Given the description of an element on the screen output the (x, y) to click on. 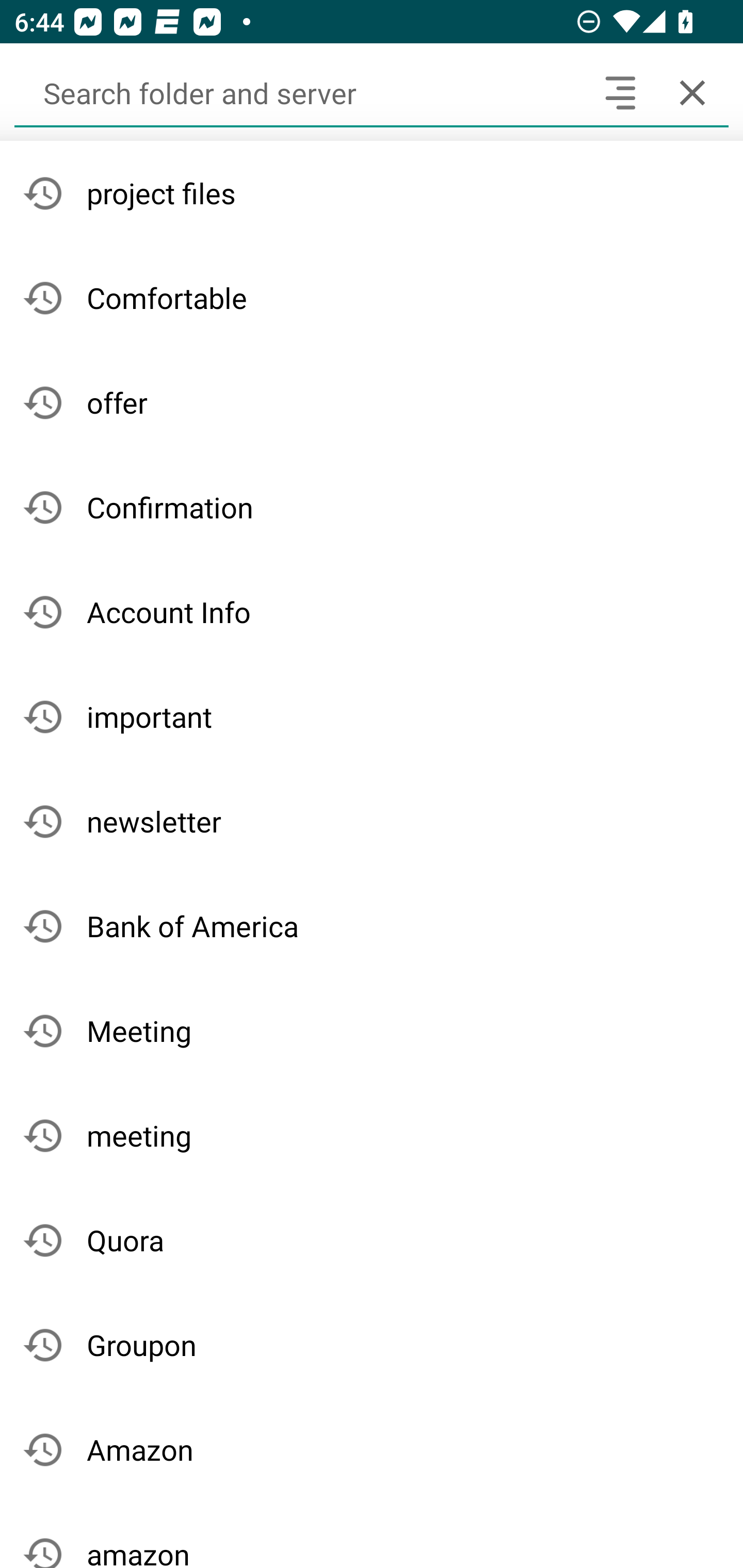
   Search folder and server (298, 92)
Search headers and text (619, 92)
Cancel (692, 92)
